Given the description of an element on the screen output the (x, y) to click on. 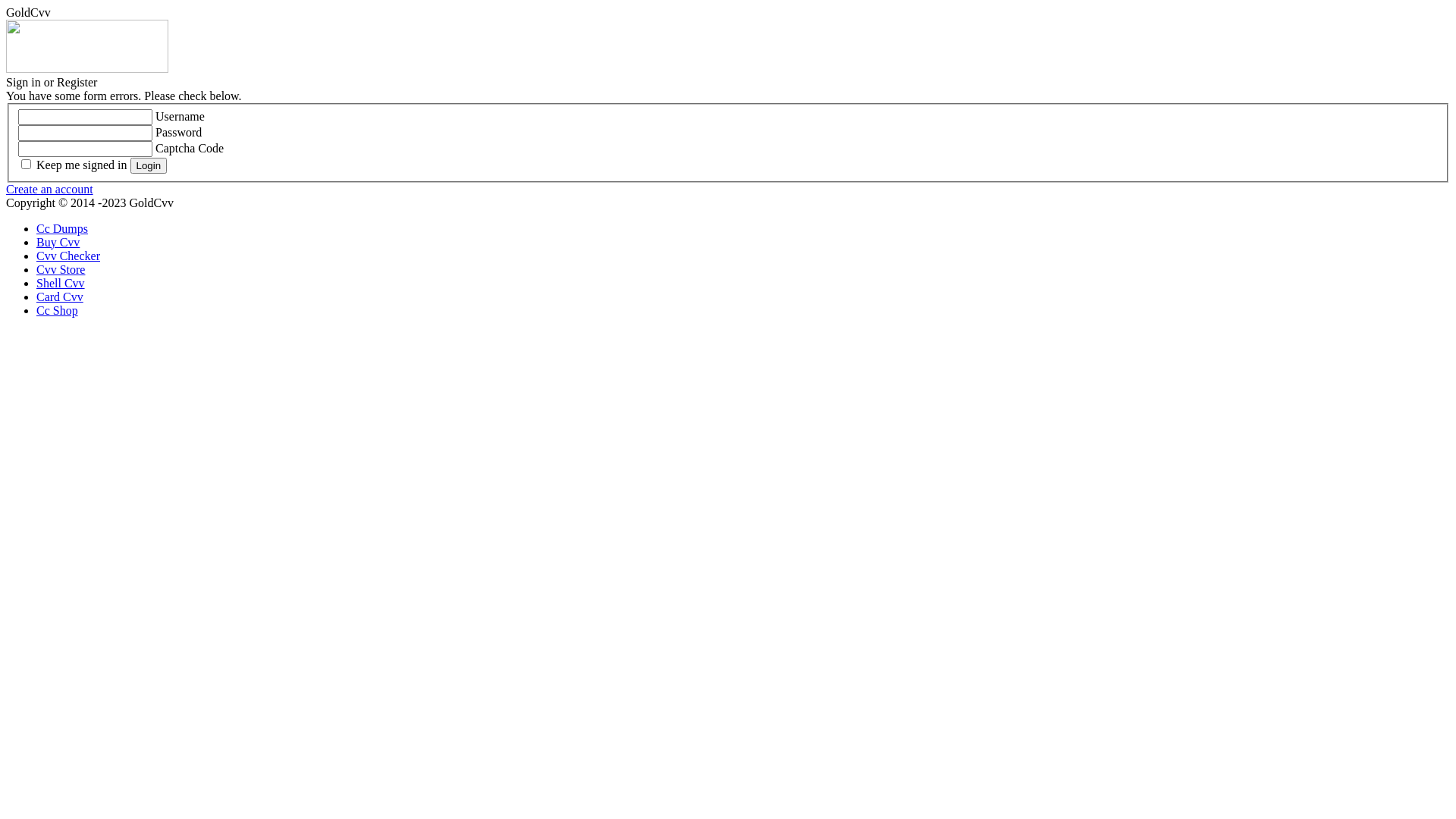
Cvv Store Element type: text (60, 269)
Shell Cvv Element type: text (60, 282)
Cvv Checker Element type: text (68, 255)
Please enter captcha as shown in image Element type: hover (85, 148)
Card Cvv Element type: text (59, 296)
Cc Dumps Element type: text (61, 228)
Please enter your password Element type: hover (85, 133)
Create an account Element type: text (49, 188)
Buy Cvv Element type: text (57, 241)
Login Element type: text (148, 165)
Cc Shop Element type: text (57, 310)
